Given the description of an element on the screen output the (x, y) to click on. 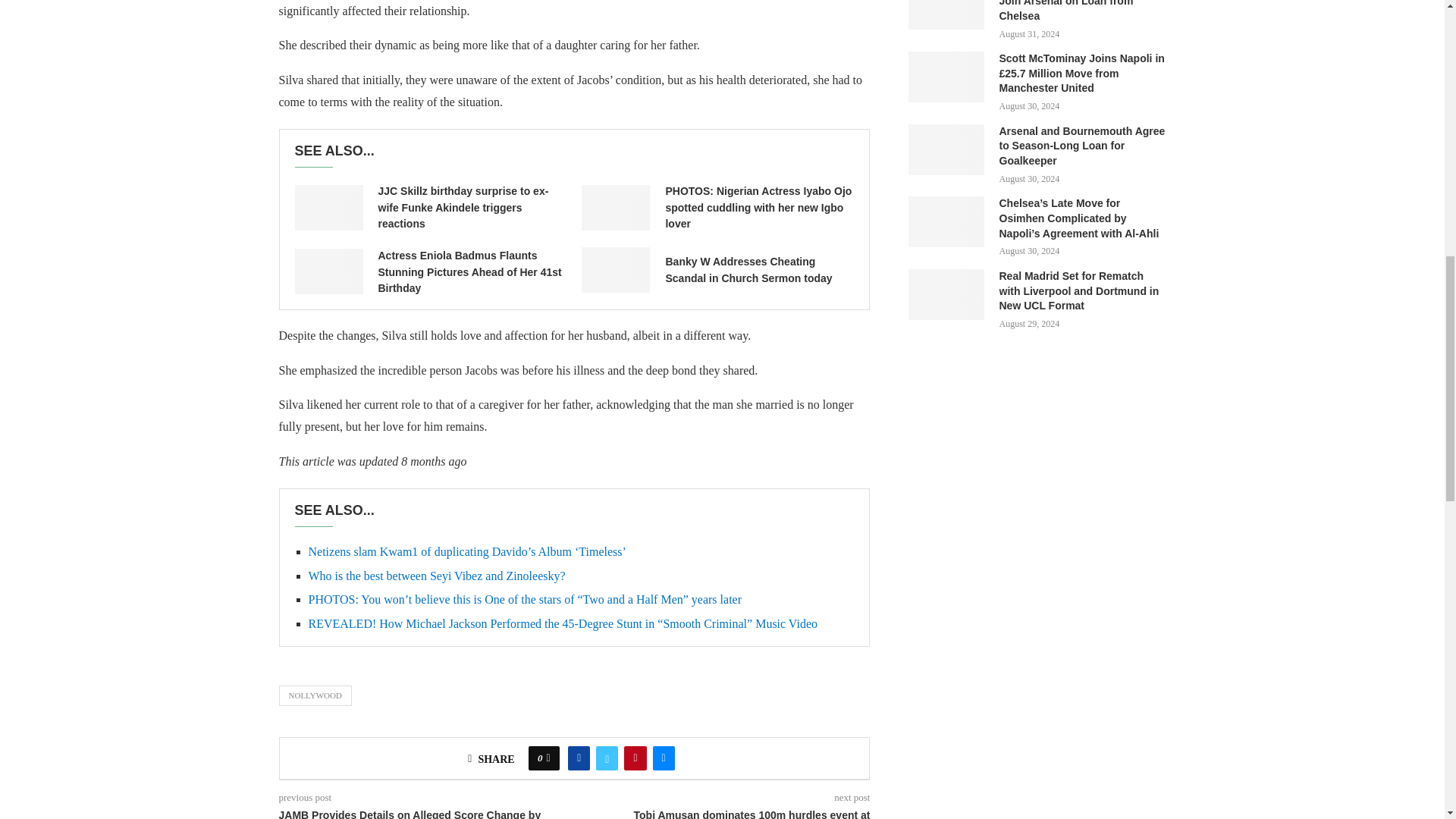
Banky W Addresses Cheating Scandal in Church Sermon today (614, 269)
